Given the description of an element on the screen output the (x, y) to click on. 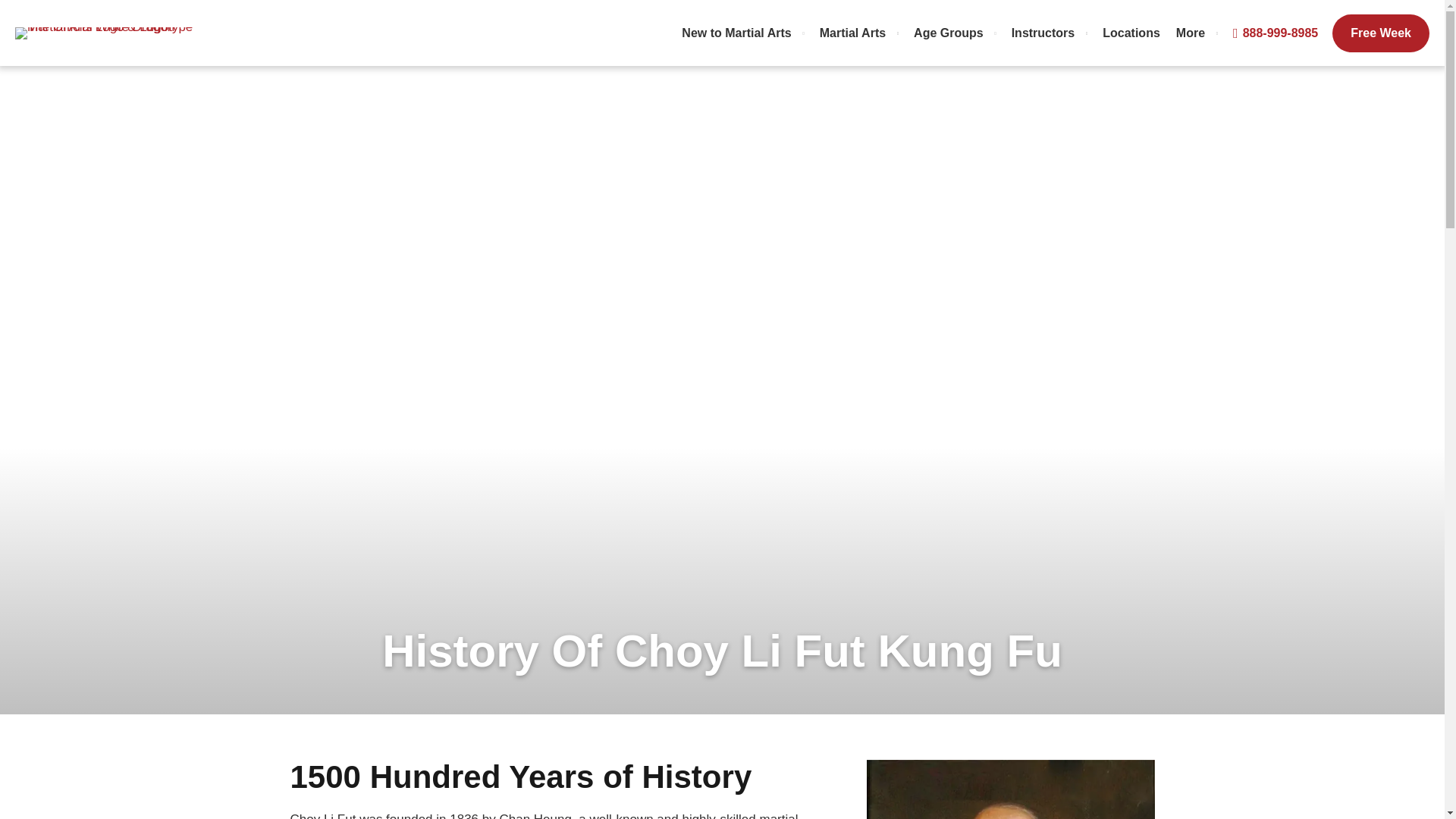
Instructors (1049, 32)
Age Groups (954, 32)
Martial Arts (858, 32)
Locations (1130, 32)
888-999-8985 (1274, 32)
Free Week (1380, 32)
image-sifu (1010, 789)
More (1196, 32)
New to Martial Arts (742, 32)
